Given the description of an element on the screen output the (x, y) to click on. 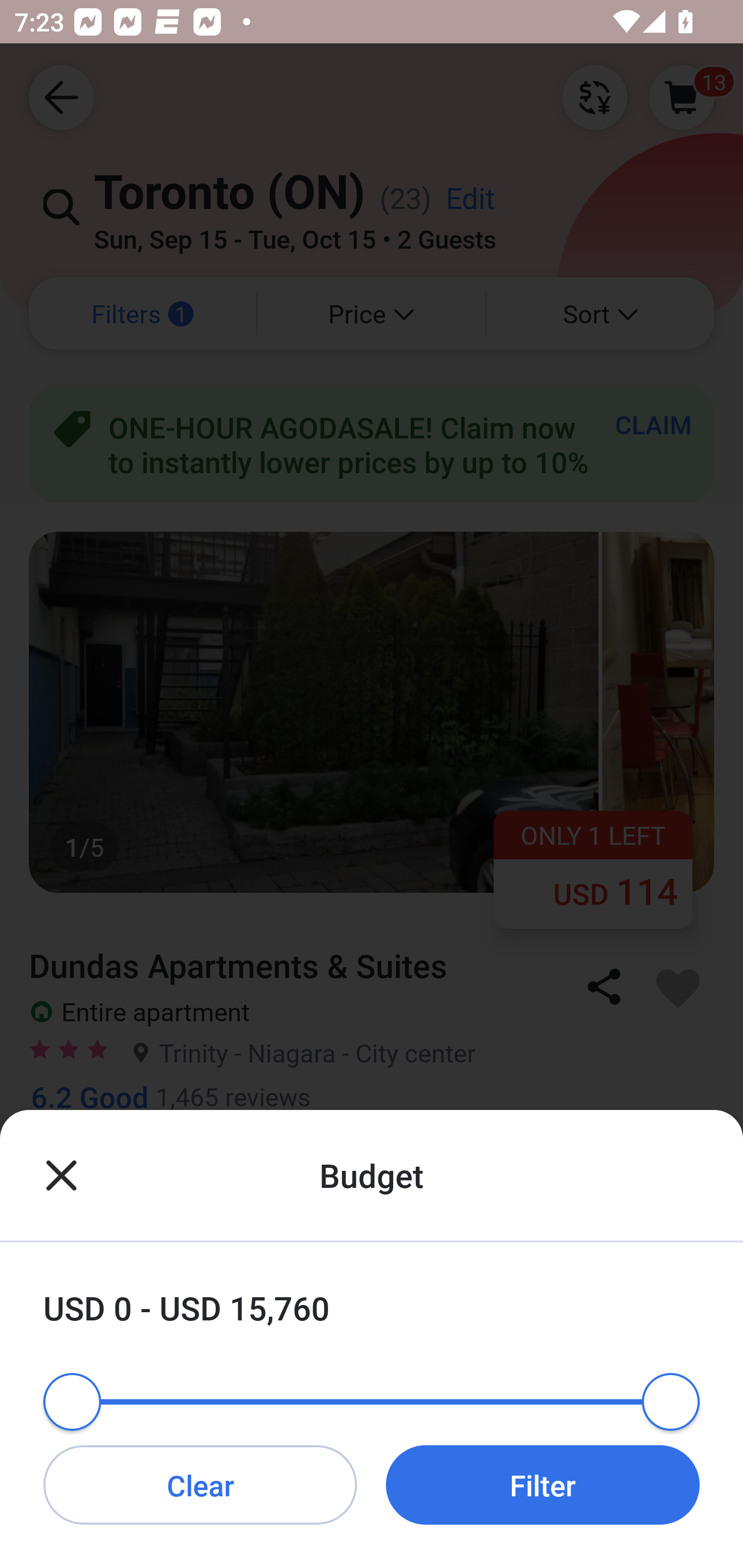
Free cancellation (371, 1182)
Clear (200, 1484)
Filter (542, 1484)
